Given the description of an element on the screen output the (x, y) to click on. 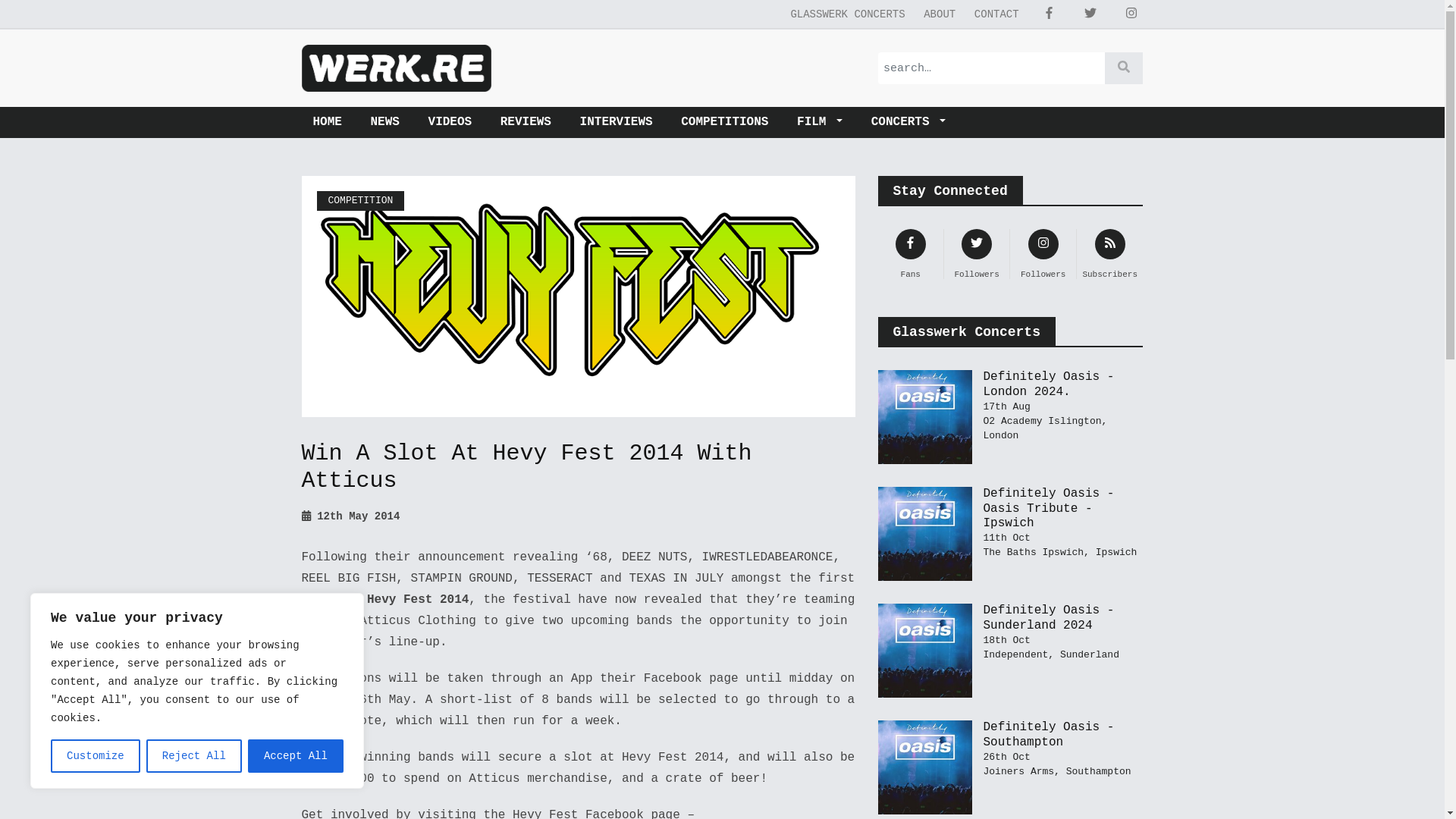
Videos (450, 122)
Interviews (616, 122)
GLASSWERK CONCERTS (847, 14)
COMPETITIONS (723, 122)
ABOUT (939, 14)
Customize (94, 756)
Home (332, 122)
Reviews (525, 122)
VIDEOS (450, 122)
Competitions (723, 122)
INTERVIEWS (616, 122)
FILM (819, 122)
REVIEWS (525, 122)
HOME (332, 122)
instagram (1130, 14)
